Given the description of an element on the screen output the (x, y) to click on. 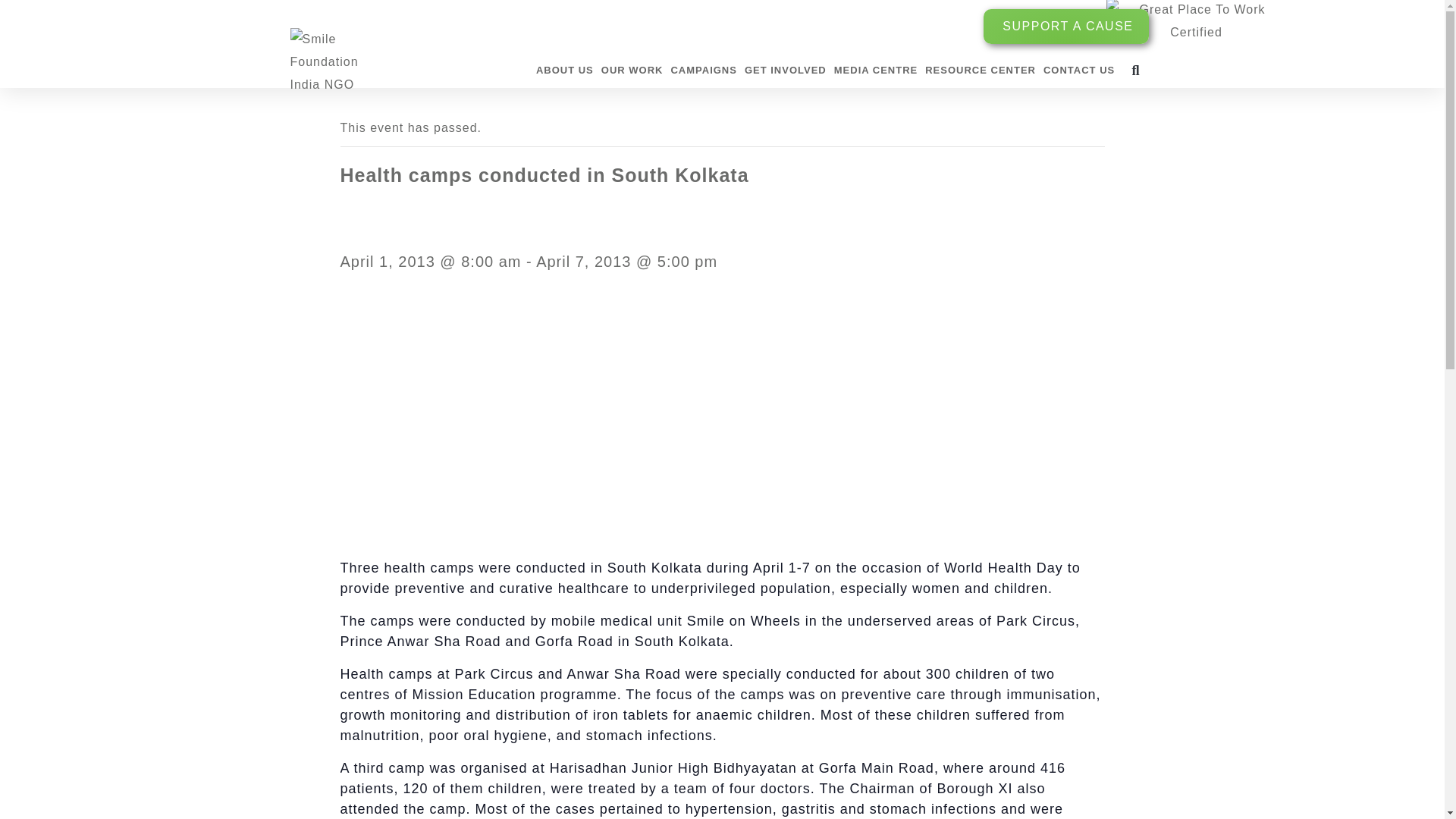
GET INVOLVED (785, 70)
OUR WORK (632, 70)
CAMPAIGNS (702, 70)
SUPPORT A CAUSE (1066, 26)
ABOUT US (564, 70)
